Given the description of an element on the screen output the (x, y) to click on. 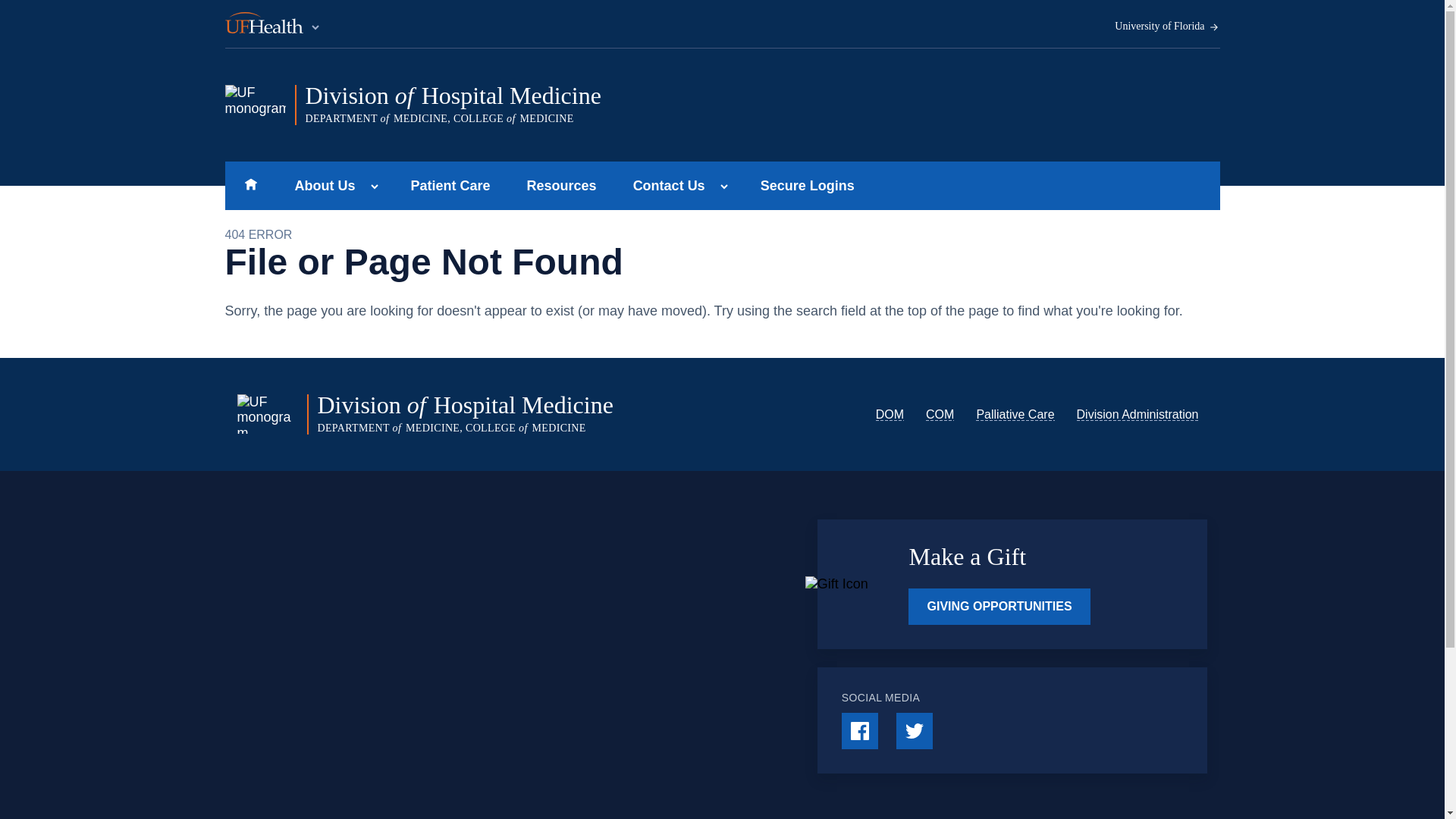
GIVING OPPORTUNITIES (998, 606)
DOM (890, 413)
COM (939, 413)
Facebook (859, 730)
Secure Logins (807, 185)
University of Florida (1167, 26)
DOM (890, 413)
COM (939, 413)
